Given the description of an element on the screen output the (x, y) to click on. 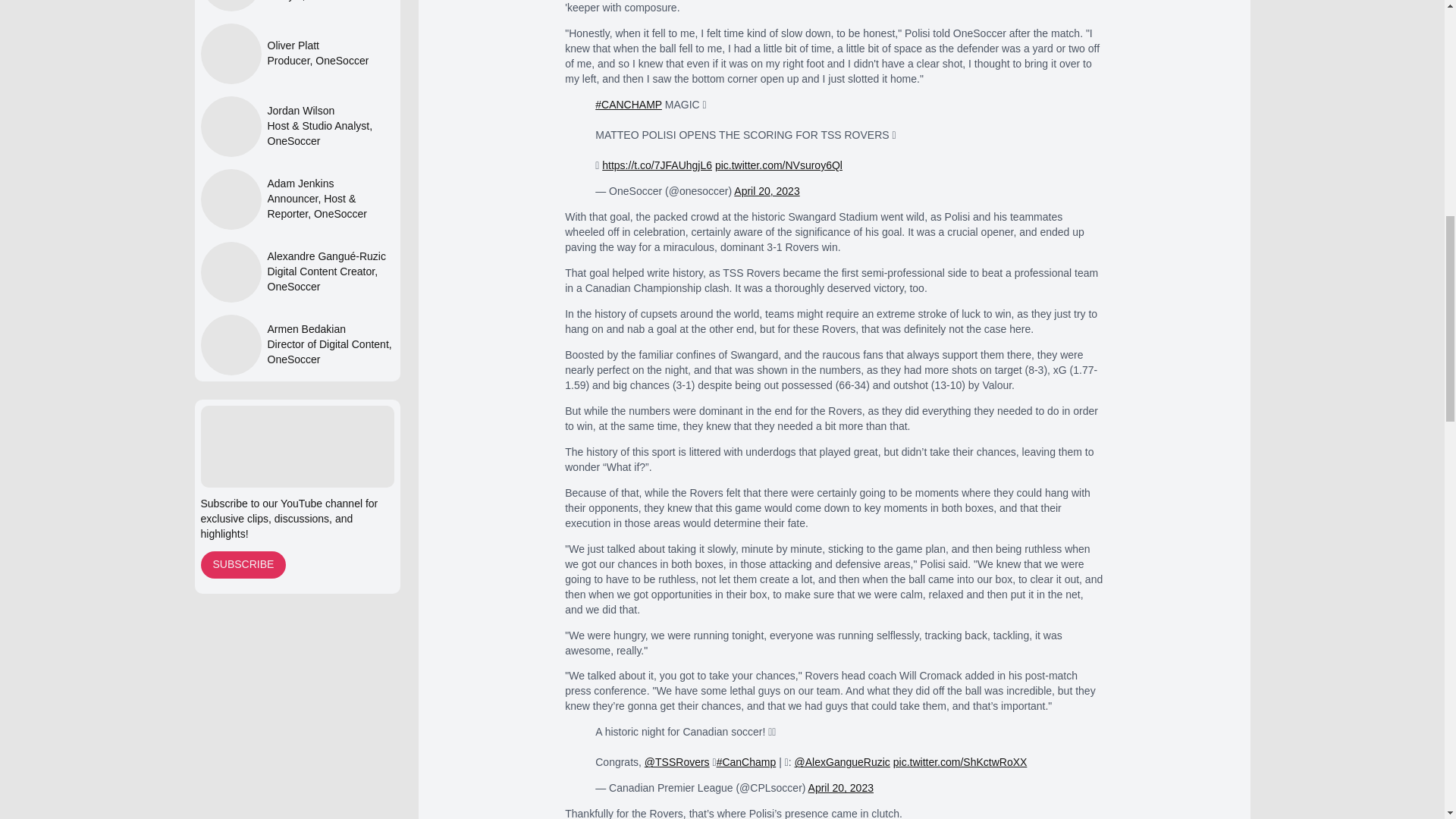
Jordan Wilson (329, 111)
Oliver Platt (317, 46)
SUBSCRIBE (242, 564)
Adam Jenkins (329, 183)
Armen Bedakian (329, 329)
